Given the description of an element on the screen output the (x, y) to click on. 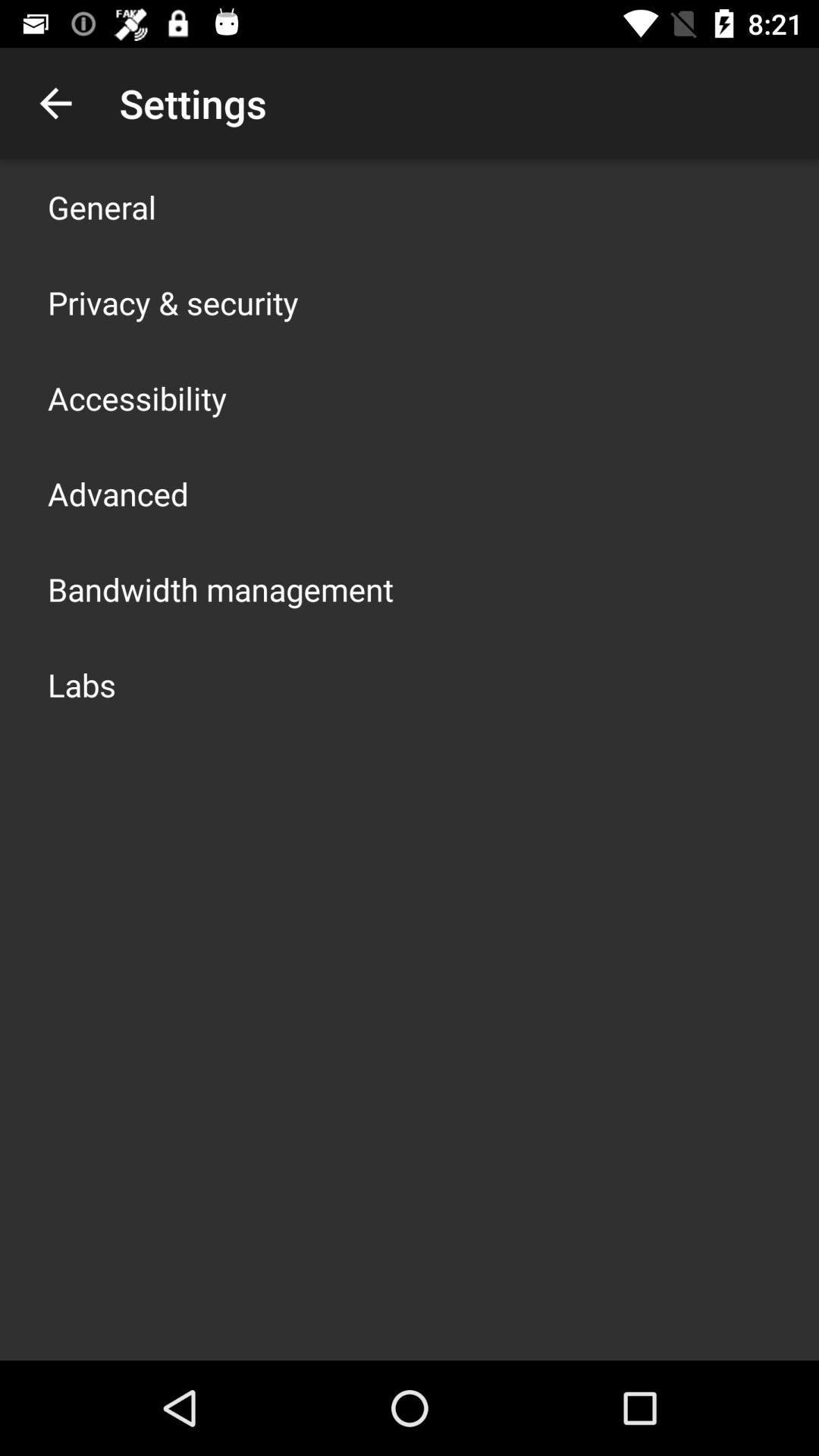
select the privacy & security item (172, 302)
